Given the description of an element on the screen output the (x, y) to click on. 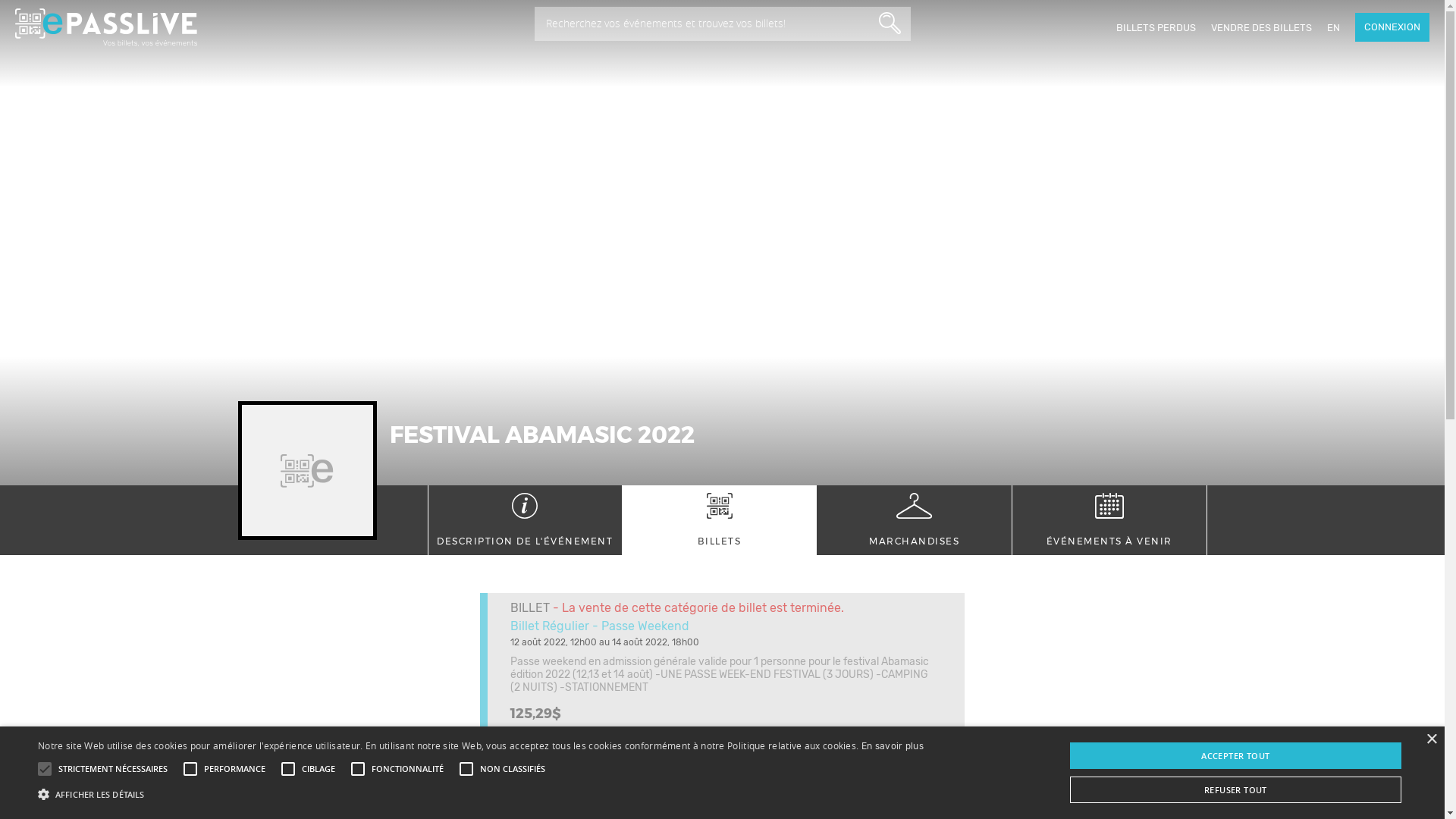
MARCHANDISES Element type: text (914, 520)
En savoir plus Element type: text (892, 745)
BILLETS PERDUS Element type: text (1155, 26)
EN Element type: text (1333, 26)
VENDRE DES BILLETS Element type: text (1261, 26)
BILLETS Element type: text (718, 520)
CONNEXION Element type: text (1392, 26)
